Given the description of an element on the screen output the (x, y) to click on. 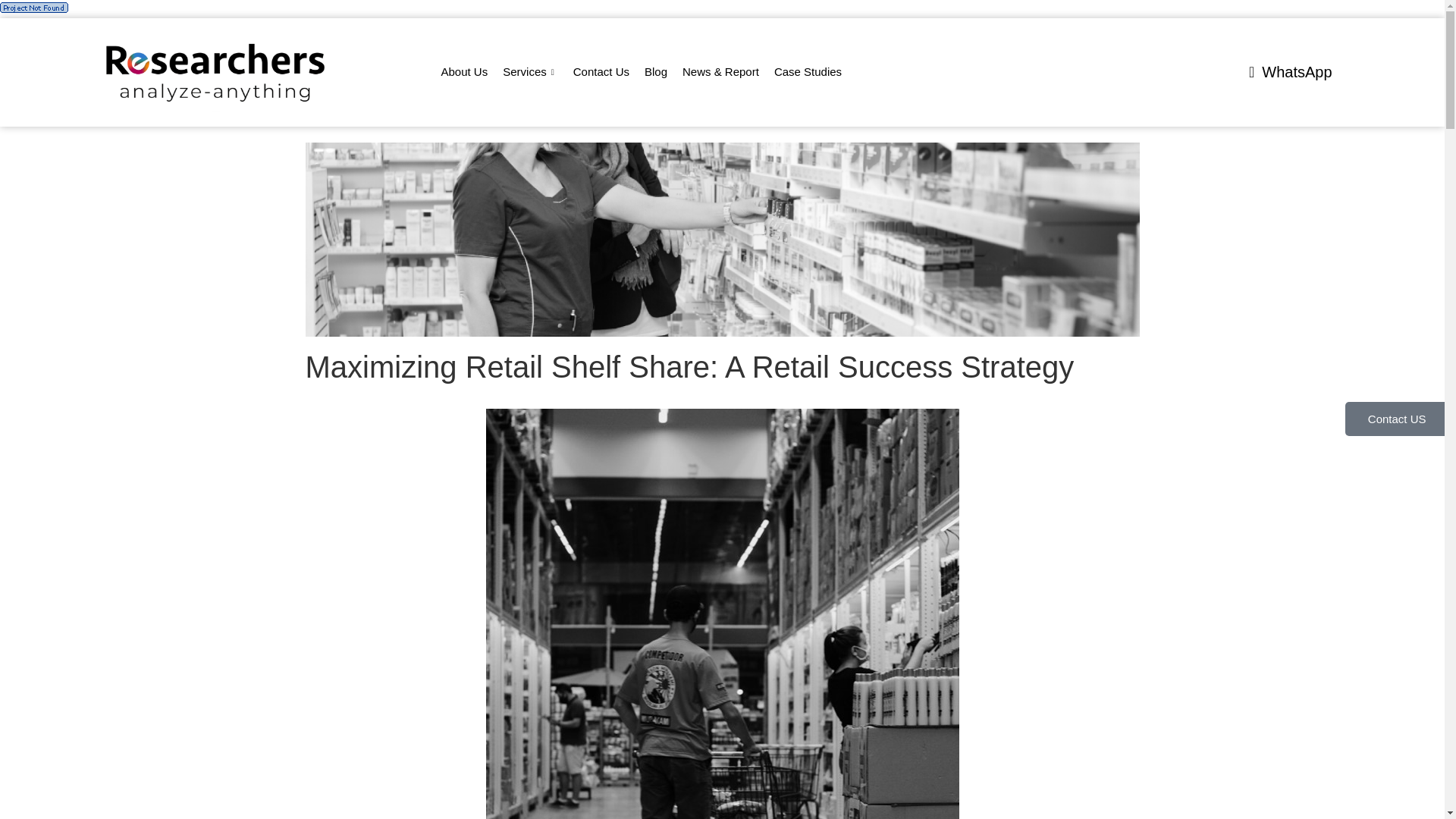
Services (530, 71)
About Us (464, 71)
